Given the description of an element on the screen output the (x, y) to click on. 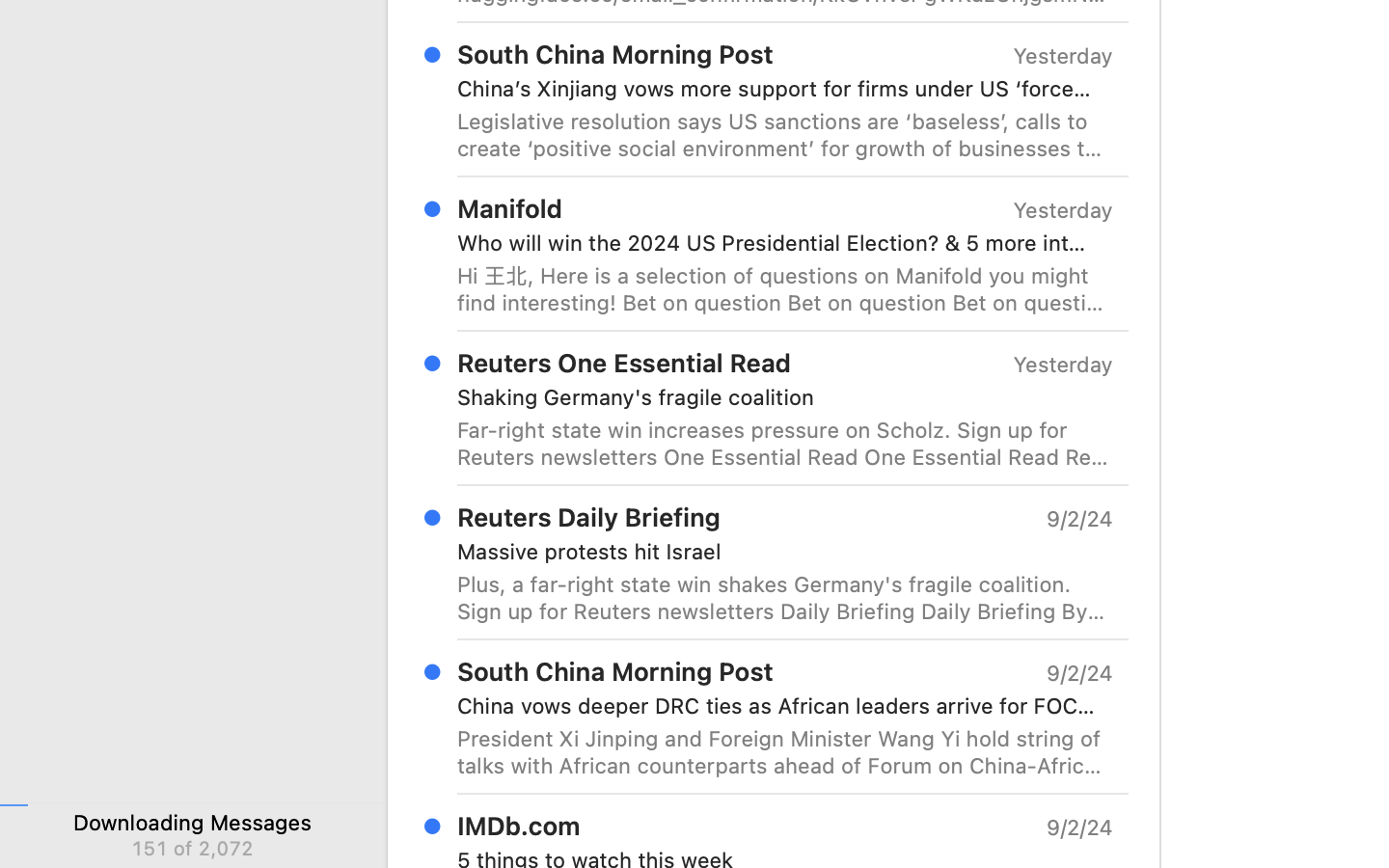
Massive protests hit Israel Element type: AXStaticText (777, 551)
Downloading Messages Element type: AXStaticText (192, 821)
Manifold Element type: AXStaticText (510, 207)
President Xi Jinping and Foreign Minister Wang Yi hold string of talks with African counterparts ahead of Forum on China-Africa ... - South China Morning Post, SCMP, SCMP Today: Intl Edition - President Xi Jinping and Foreign Minister Wang Yi hold string of talks with African counterparts ahead of Forum on China-Africa ... Monday 2nd September, 2024 China politics & diplomacy ChinaChina vows deeper DRC ties as African leaders arrive for FOCAC meetings2 Sep, 2024 - 05:13 pmPresident Xi Jinping and Foreign Minister Wang Yi hold string of talks with African counterparts ahead of Forum on China-Africa Cooperation. EconomyChina moves to curb money worship, extravagance and excess in financial sector2 Sep, 2024 - 04:04 pm EconomyChina’s yuan to continue to gain, but outlook hinges on Fed rate cuts: analysts2 Sep, 2024 - 05:42 pm Featured Podcast3. Millennials, GenZ and hire education Video Of The Day Hong Kong’s youngest Paralympic medallist Jasmine Ng clinches swimming bronze at age 14OPINI Element type: AXStaticText (784, 752)
Who will win the 2024 US Presidential Election? & 5 more interesting markets on Manifold Element type: AXStaticText (777, 242)
